Given the description of an element on the screen output the (x, y) to click on. 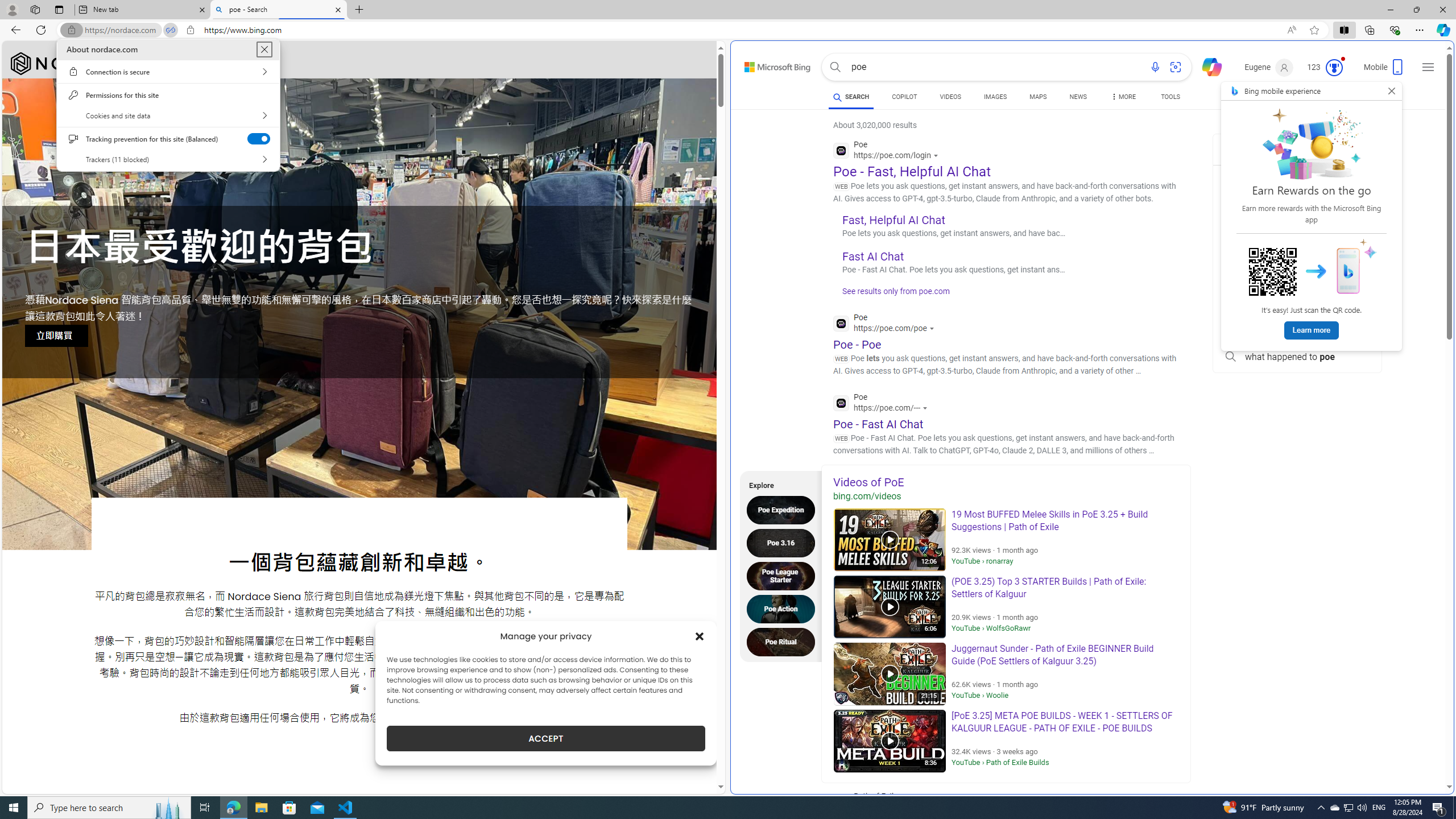
Notification Chevron (1320, 807)
Videos of PoE (1005, 481)
NEWS (1078, 96)
